Given the description of an element on the screen output the (x, y) to click on. 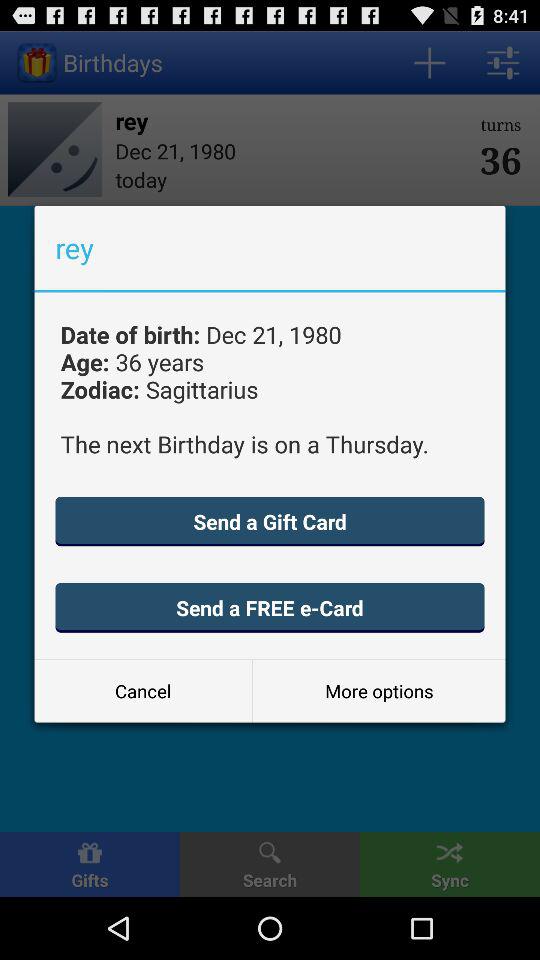
choose the icon below send a free button (378, 690)
